Given the description of an element on the screen output the (x, y) to click on. 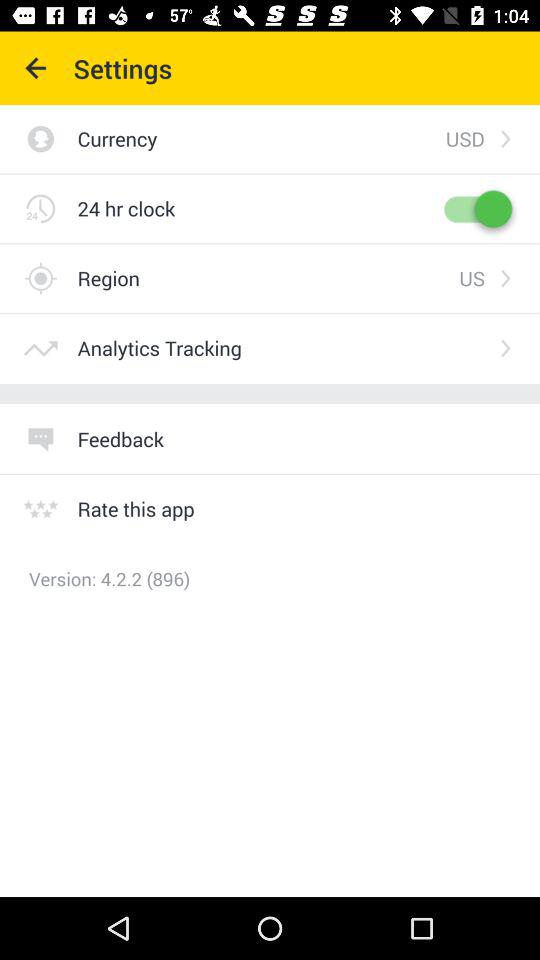
scroll until us item (471, 278)
